Given the description of an element on the screen output the (x, y) to click on. 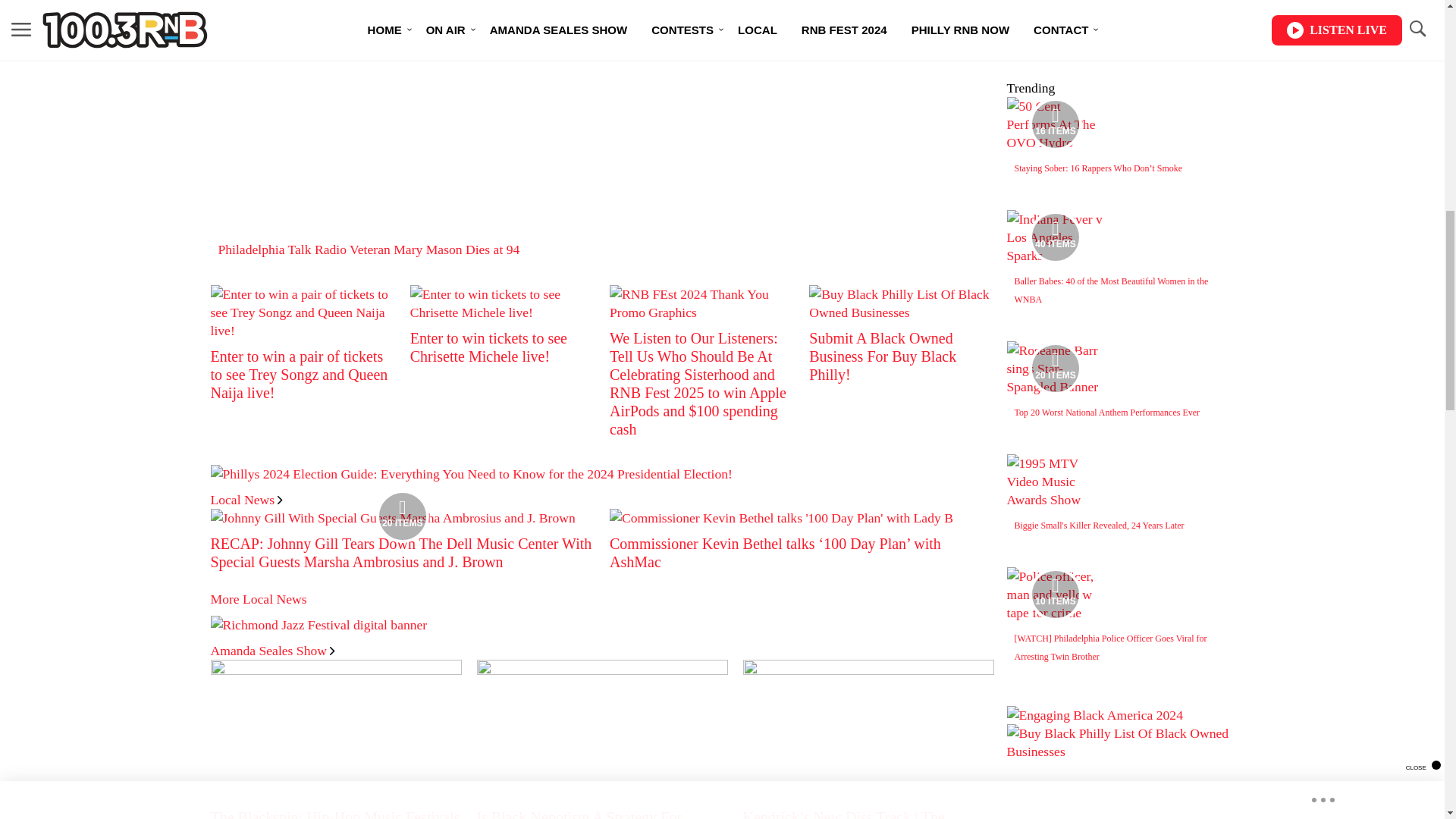
Philadelphia Talk Radio Veteran Mary Mason Dies at 94 (368, 249)
20 ITEMS (393, 517)
Media Playlist (1055, 368)
Media Playlist (1055, 236)
Media Playlist (402, 515)
Enter to win tickets to see Chrisette Michele live! (488, 347)
Media Playlist (1055, 594)
Submit A Black Owned Business For Buy Black Philly! (882, 356)
Media Playlist (1055, 123)
Local News (246, 499)
